Given the description of an element on the screen output the (x, y) to click on. 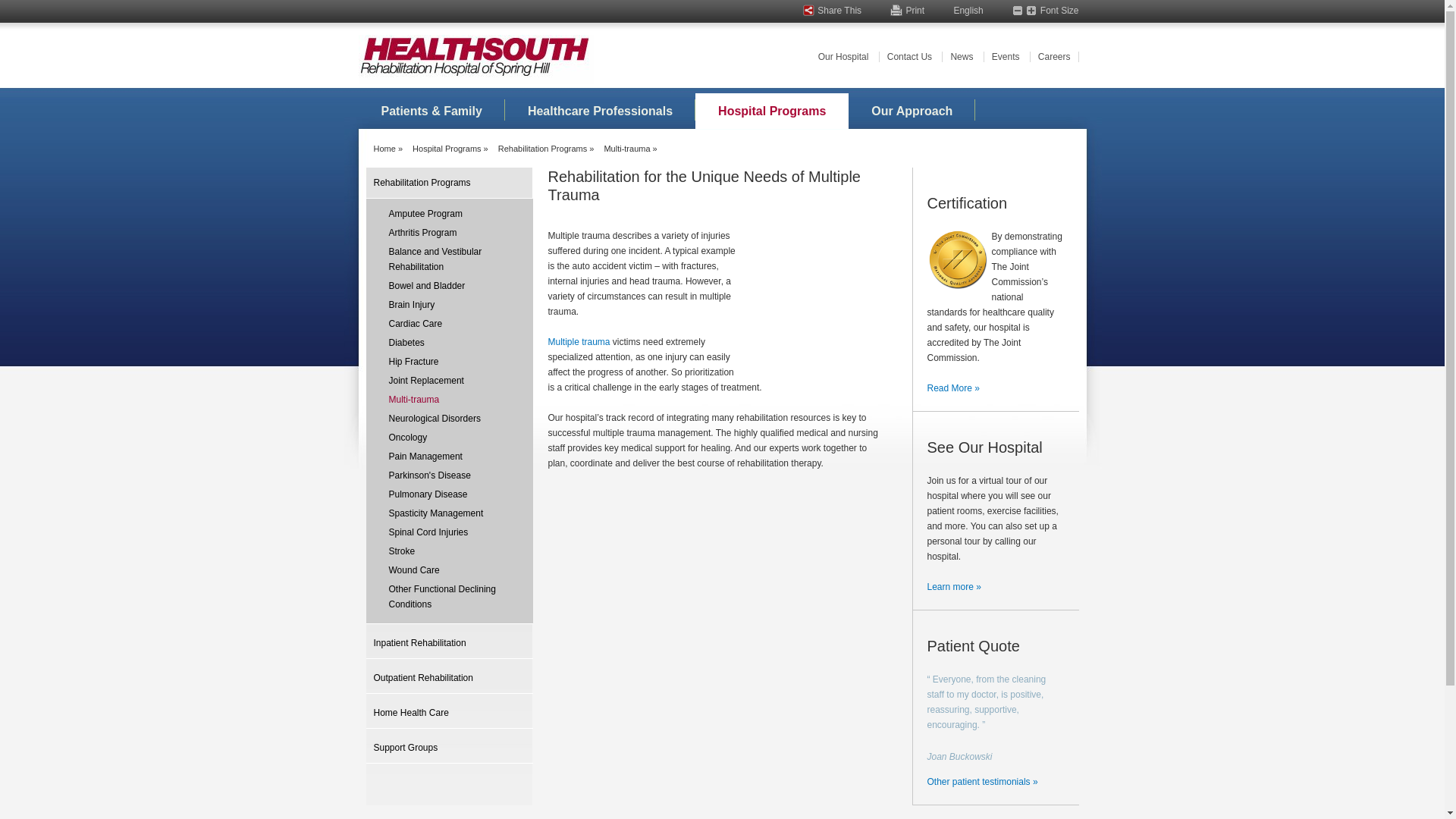
Contact Us (908, 56)
Arthritis Program (448, 232)
Print (910, 10)
Home (383, 148)
HealthSouth - Rehabilitation Hospital of Spring Hill (464, 59)
Balance and Vestibular Rehabilitation (448, 259)
Healthcare Professionals (600, 110)
Our Approach (911, 110)
Hospital Programs (771, 110)
News (961, 56)
English (967, 10)
Rehabilitation Programs (448, 183)
Careers (1054, 56)
Events (1005, 56)
Our Hospital (843, 56)
